Given the description of an element on the screen output the (x, y) to click on. 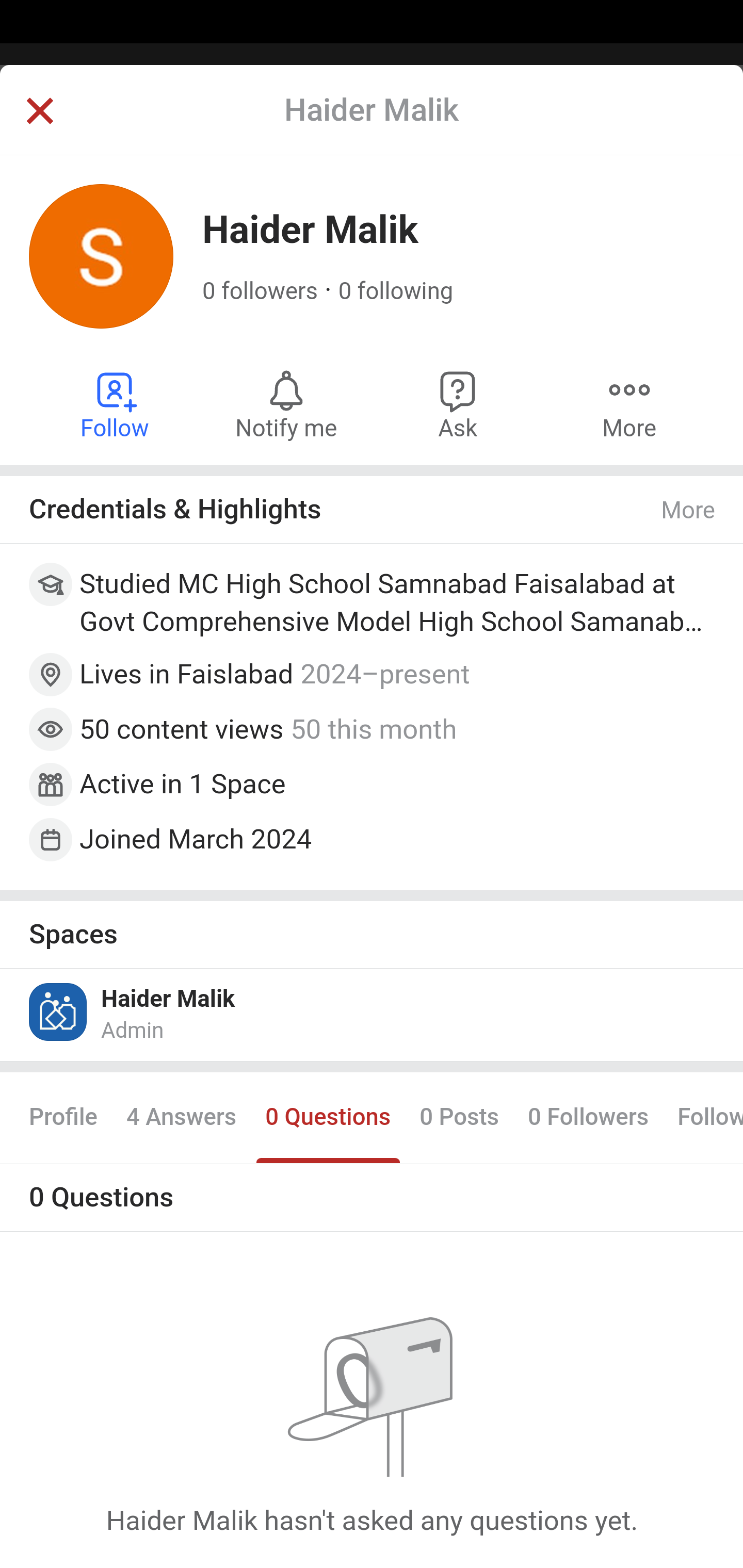
Back Answer (371, 125)
 (39, 112)
Follow Haider Malik Follow (115, 404)
Notify me (285, 404)
Ask (458, 404)
More (628, 404)
More (688, 510)
Icon for Haider Malik (58, 1011)
Haider Malik (168, 998)
Profile (63, 1117)
4 Answers (180, 1117)
0 Questions (327, 1117)
0 Posts (459, 1117)
0 Followers (588, 1117)
Following (702, 1117)
